Given the description of an element on the screen output the (x, y) to click on. 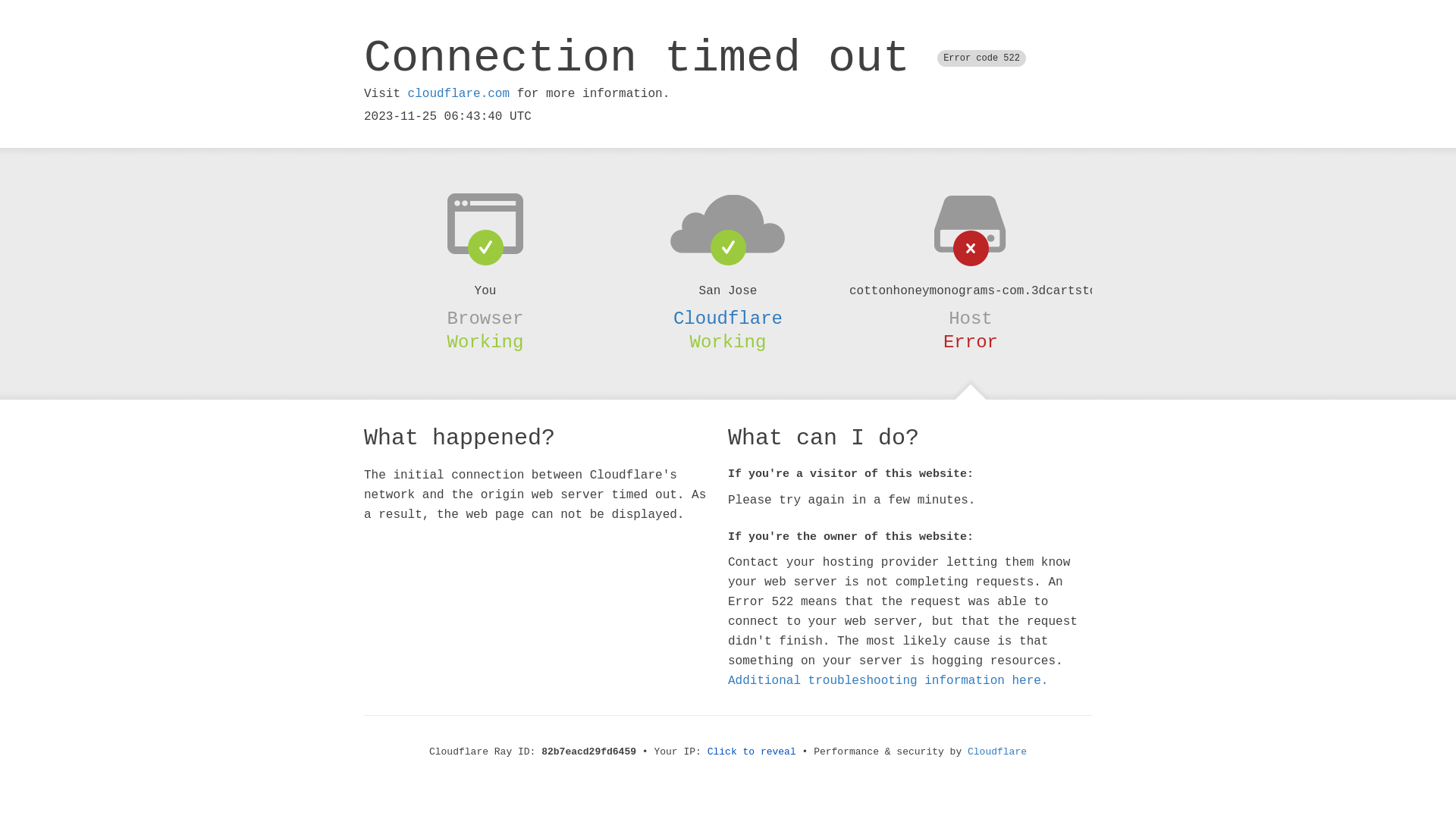
Cloudflare Element type: text (996, 751)
Cloudflare Element type: text (727, 318)
Additional troubleshooting information here. Element type: text (888, 680)
Click to reveal Element type: text (751, 751)
cloudflare.com Element type: text (458, 93)
